Given the description of an element on the screen output the (x, y) to click on. 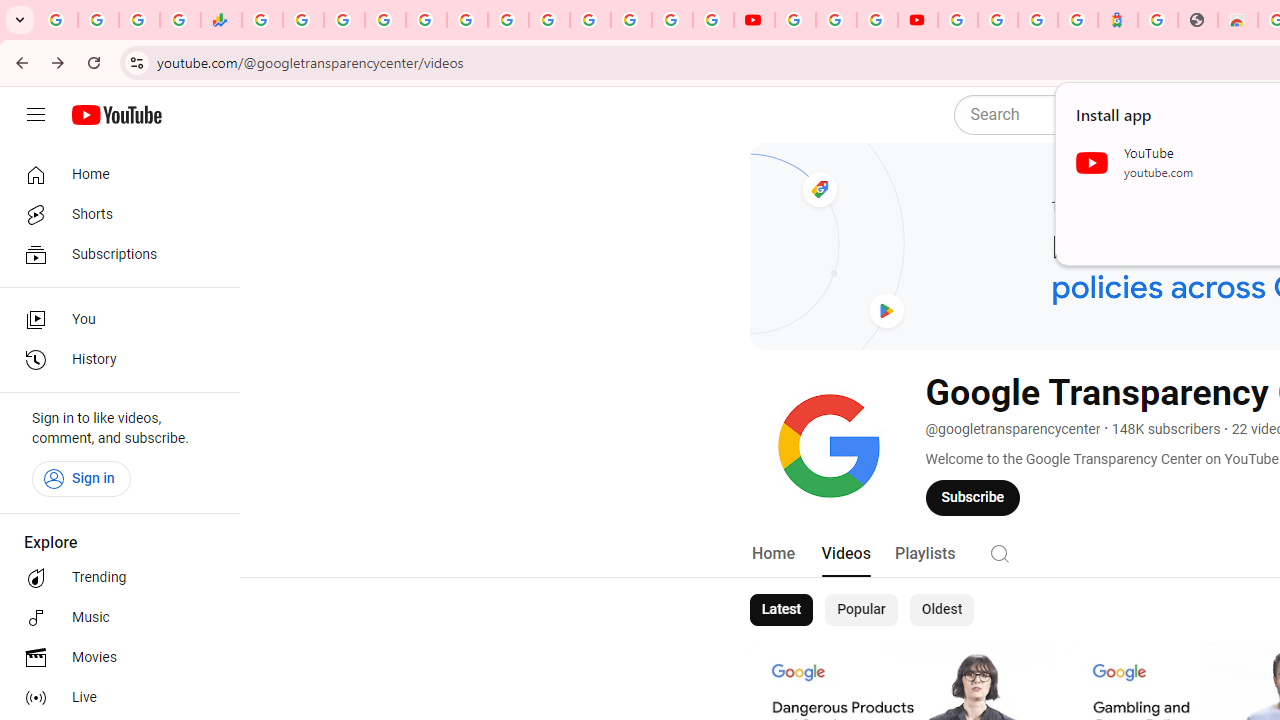
YouTube (795, 20)
History (113, 359)
Sign in - Google Accounts (671, 20)
Atour Hotel - Google hotels (1117, 20)
Privacy Checkup (712, 20)
Shorts (113, 214)
Chrome Web Store - Household (1238, 20)
